Given the description of an element on the screen output the (x, y) to click on. 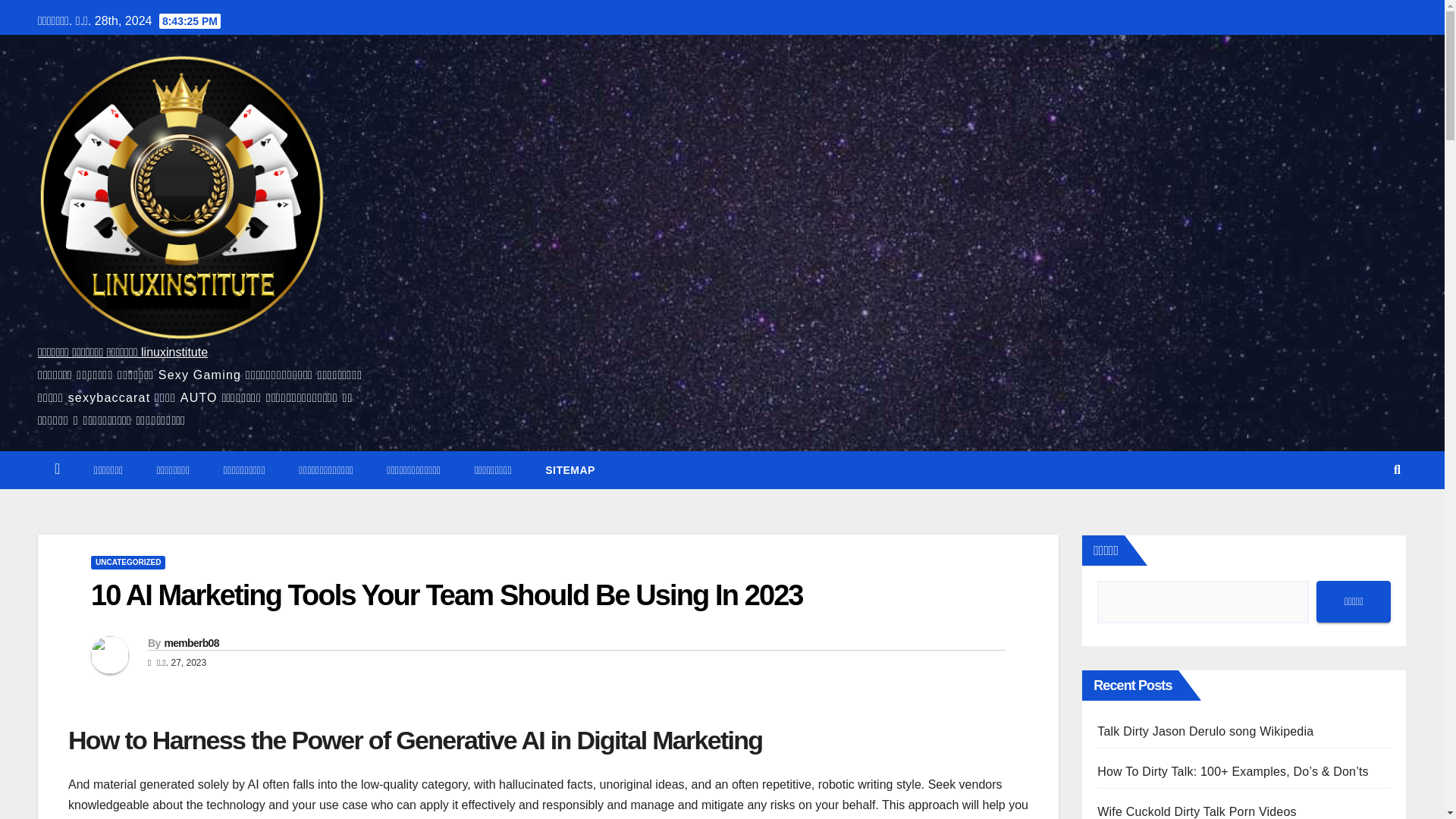
sitemap (569, 469)
SITEMAP (569, 469)
memberb08 (190, 643)
10 AI Marketing Tools Your Team Should Be Using In 2023 (446, 594)
UNCATEGORIZED (127, 562)
